Given the description of an element on the screen output the (x, y) to click on. 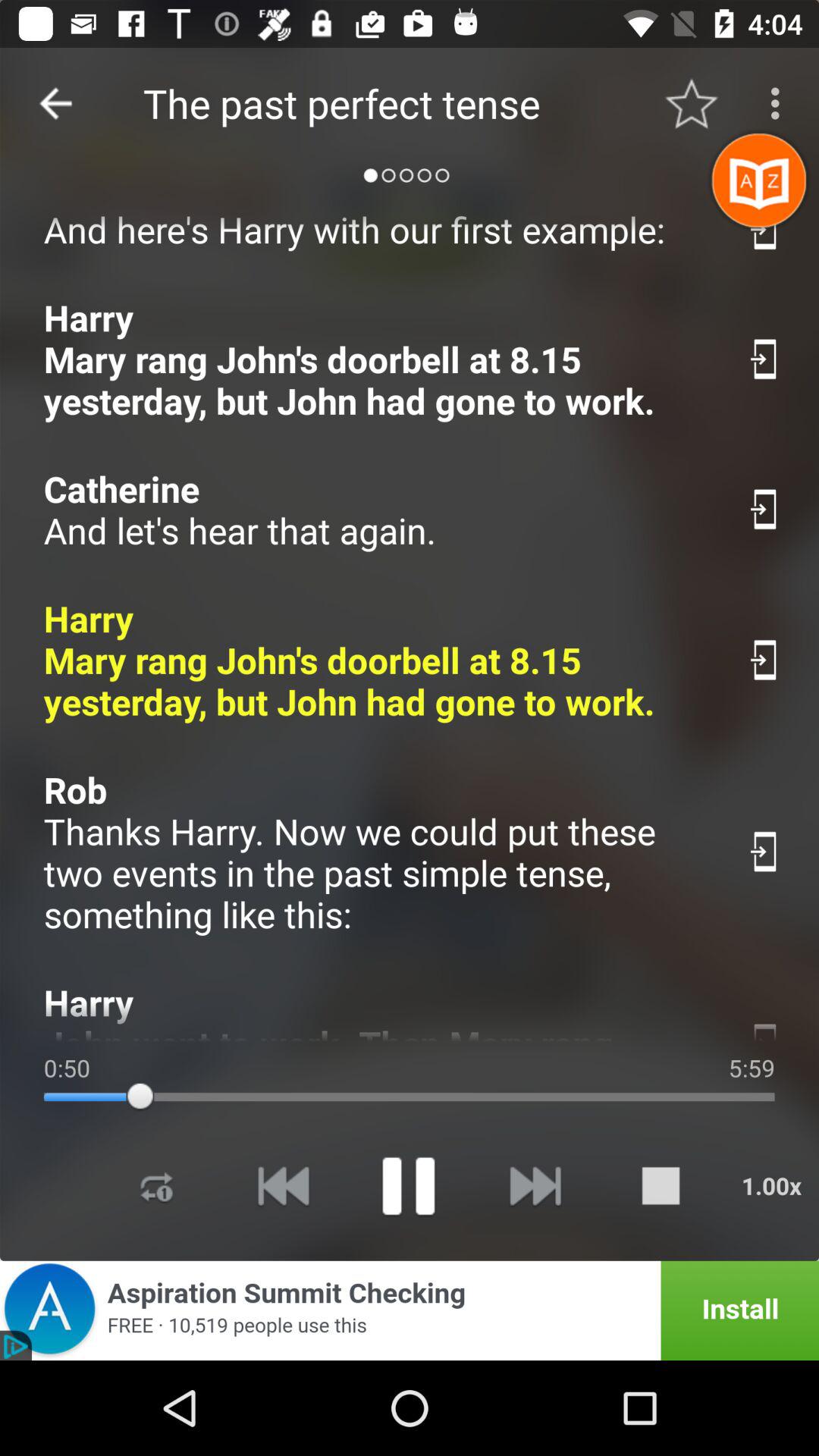
download to phone (765, 1027)
